Given the description of an element on the screen output the (x, y) to click on. 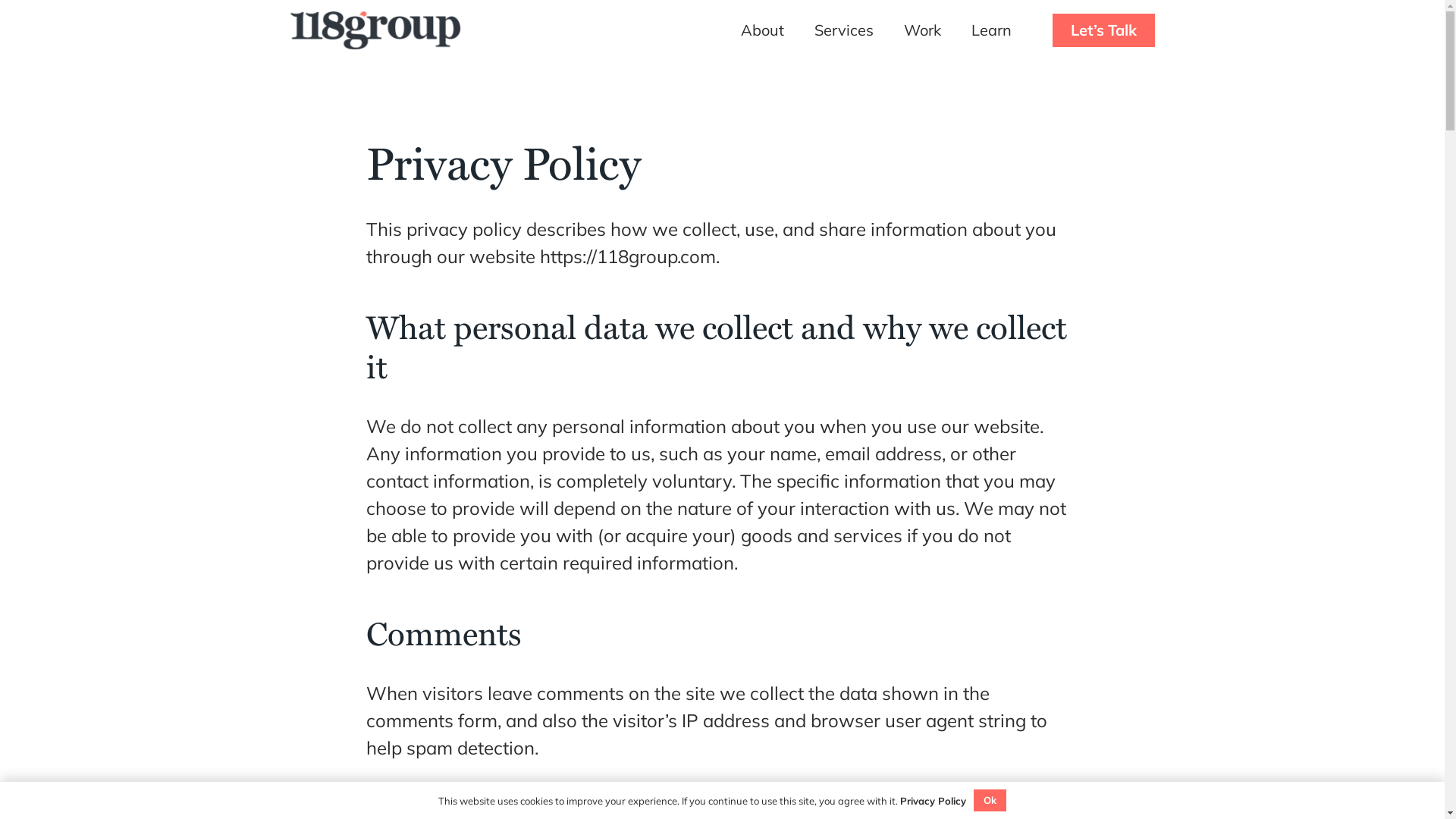
Work Element type: text (337, 589)
Privacy Policy Element type: text (933, 800)
https://118group.com Element type: text (627, 255)
Where Design Meets Purpose Element type: text (413, 422)
Instagram Element type: hover (334, 711)
Accessibility Element type: text (706, 801)
(508) 591-0405 Element type: text (1112, 801)
Work Element type: text (922, 30)
Sitemap Element type: text (852, 801)
Privacy Policy Element type: text (785, 801)
About Element type: text (343, 533)
About Element type: text (762, 30)
Research Element type: text (368, 645)
Services Element type: text (843, 30)
LinkedIn Element type: hover (370, 710)
Ok Element type: text (989, 800)
Spotify Element type: hover (404, 710)
Facebook Element type: hover (298, 710)
team@118group.com Element type: text (346, 801)
Learn Element type: text (991, 30)
